Given the description of an element on the screen output the (x, y) to click on. 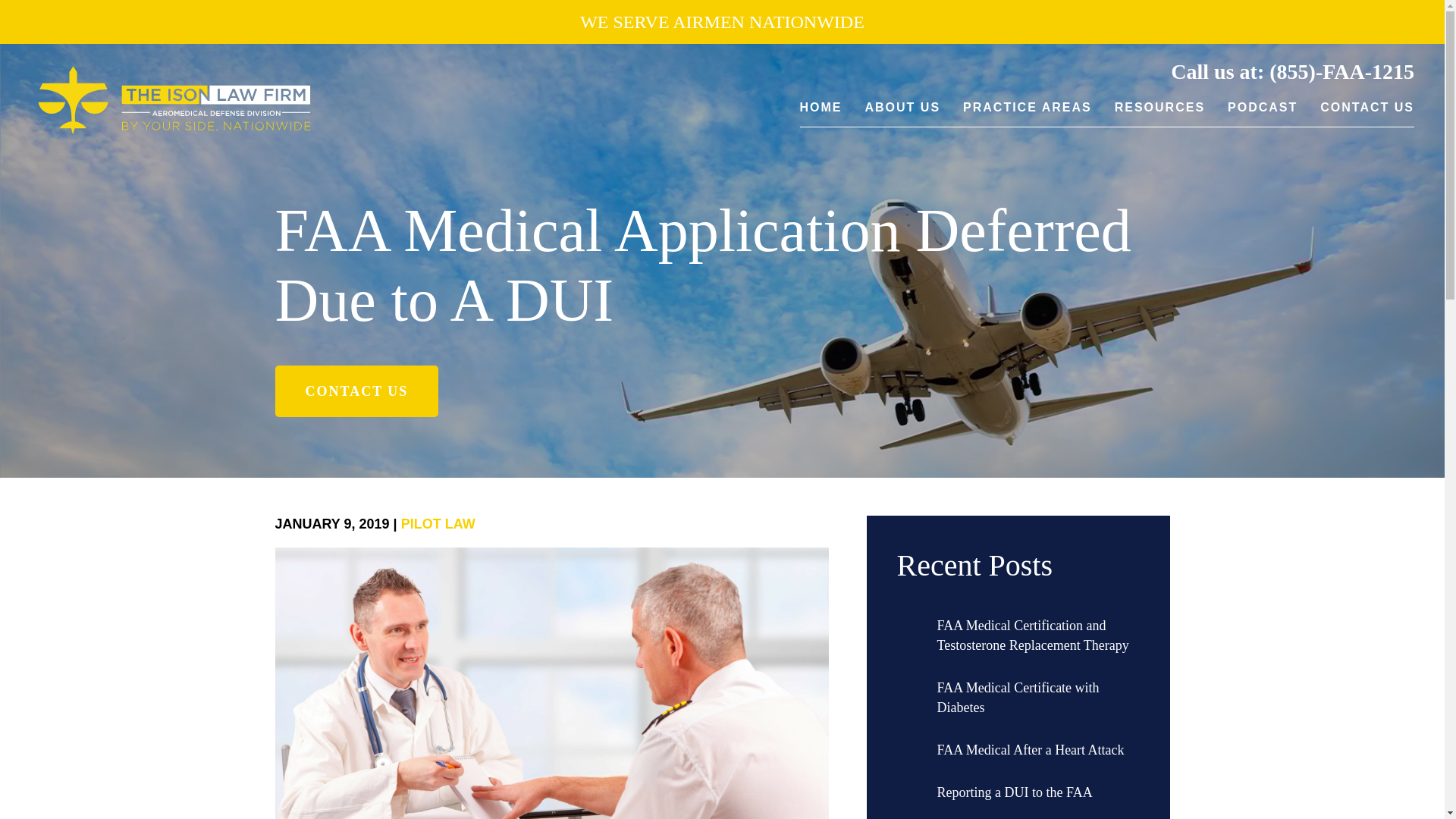
FAA Medical After a Heart Attack (1030, 750)
ABOUT US (902, 112)
CONTACT US (356, 390)
PILOT LAW (438, 523)
PODCAST (1262, 112)
FAA Medical Certificate with Diabetes (1038, 697)
CONTACT US (1366, 112)
PRACTICE AREAS (1027, 112)
RESOURCES (1160, 112)
HOME (820, 112)
